Given the description of an element on the screen output the (x, y) to click on. 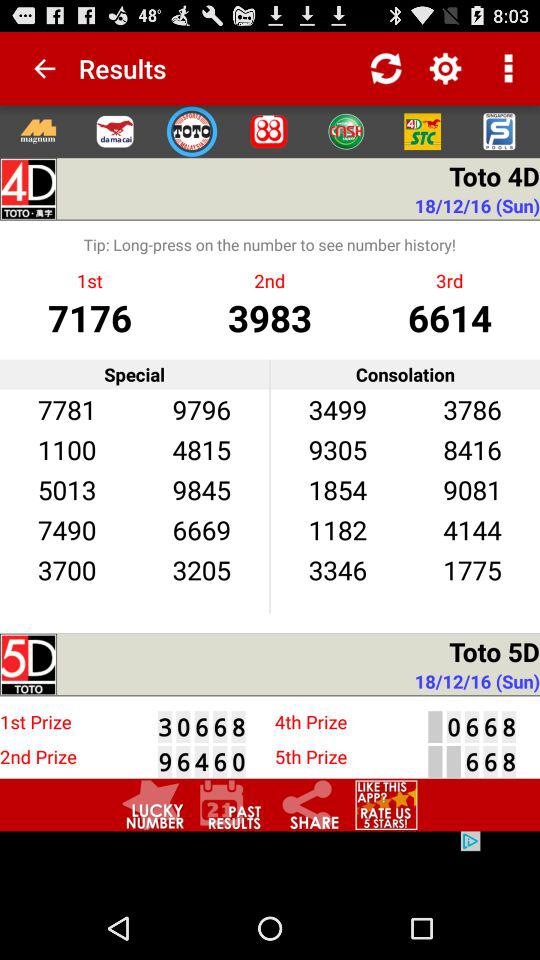
open icon next to 3983 item (450, 316)
